Given the description of an element on the screen output the (x, y) to click on. 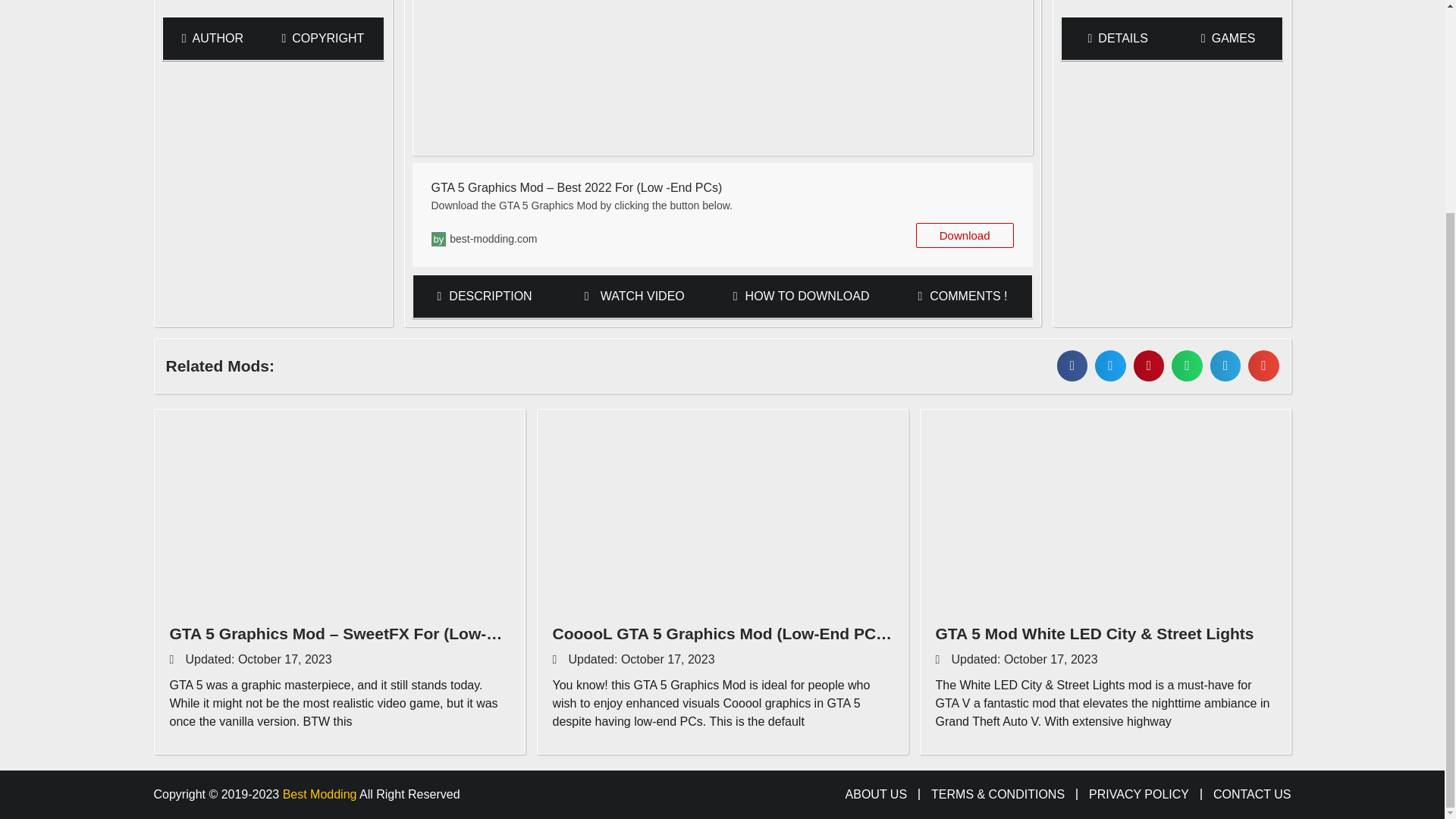
CONTACT US (1251, 794)
Download (964, 235)
Best Modding (319, 793)
ABOUT US (876, 794)
PRIVACY POLICY (1139, 794)
